Given the description of an element on the screen output the (x, y) to click on. 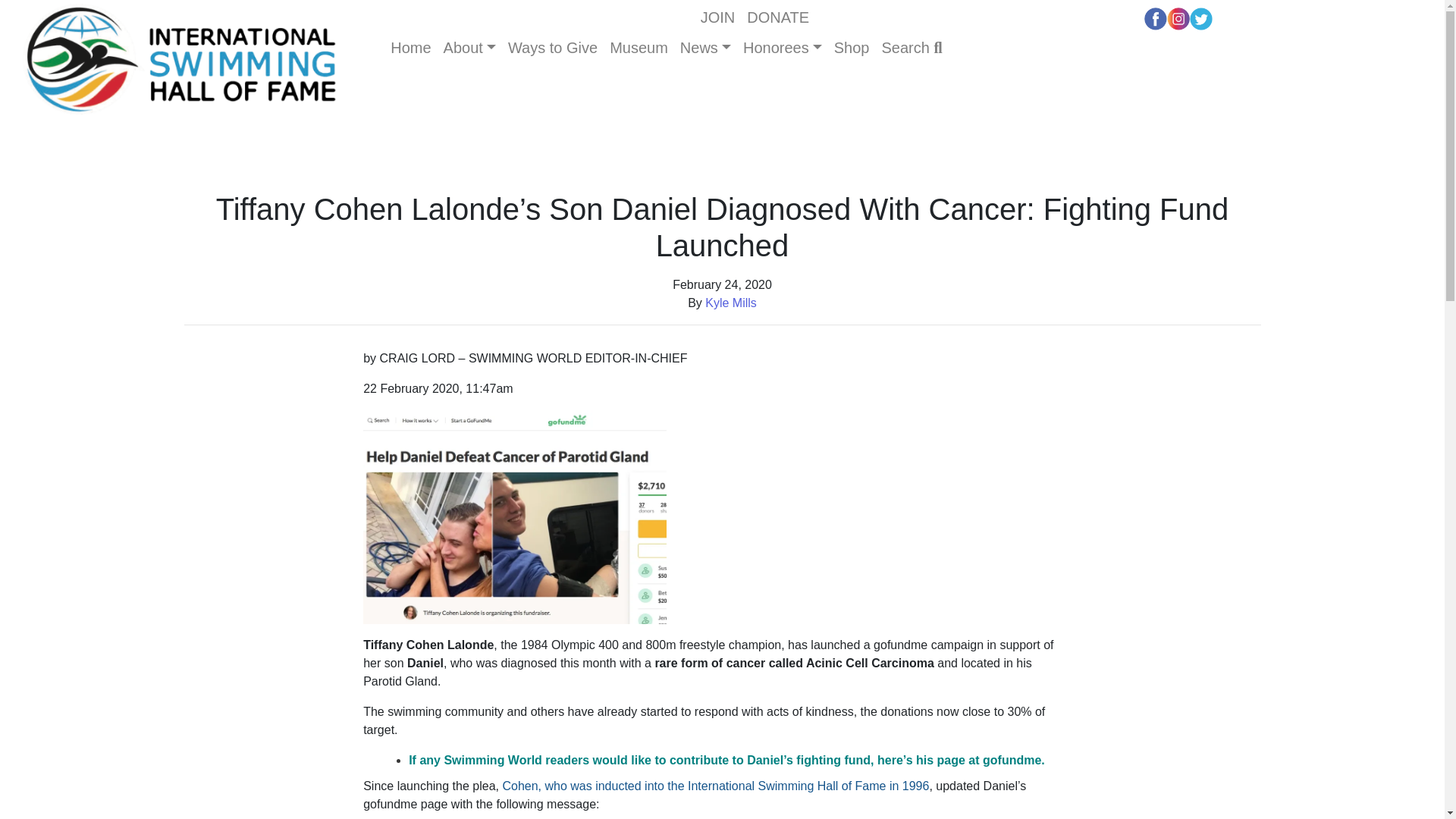
Shop (852, 47)
Ways to Give (553, 47)
Honorees (782, 47)
About (470, 47)
JOIN (717, 16)
Ways to Give (553, 47)
Search   (911, 47)
Home (410, 47)
Home (410, 47)
Search (911, 47)
